Given the description of an element on the screen output the (x, y) to click on. 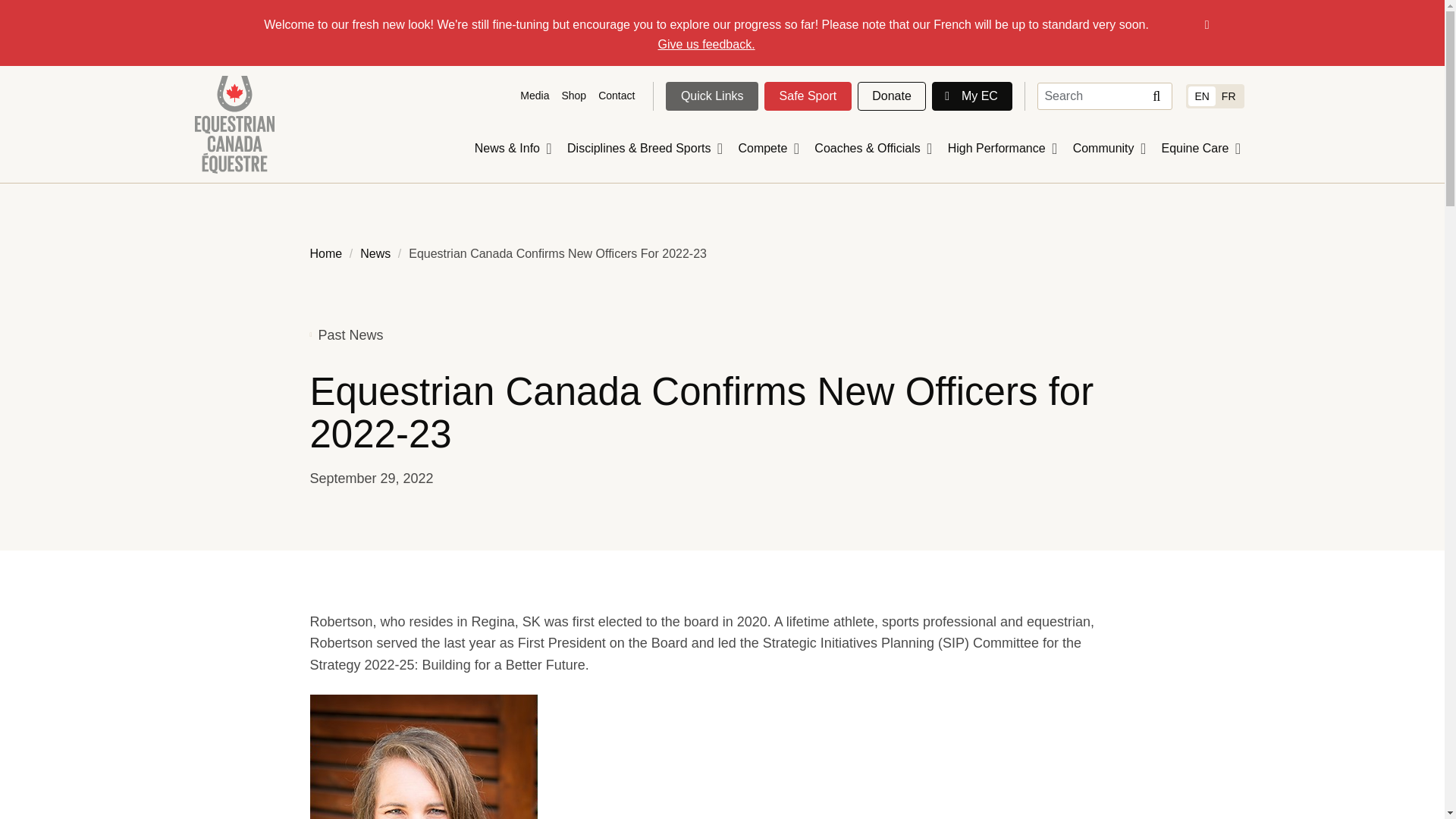
My EC (971, 95)
Donate (891, 95)
Media (533, 95)
Quick Links (711, 95)
Give us feedback. (706, 43)
Shop (573, 95)
Contact (616, 95)
EN (1201, 96)
Safe Sport (807, 95)
FR (1228, 96)
